Given the description of an element on the screen output the (x, y) to click on. 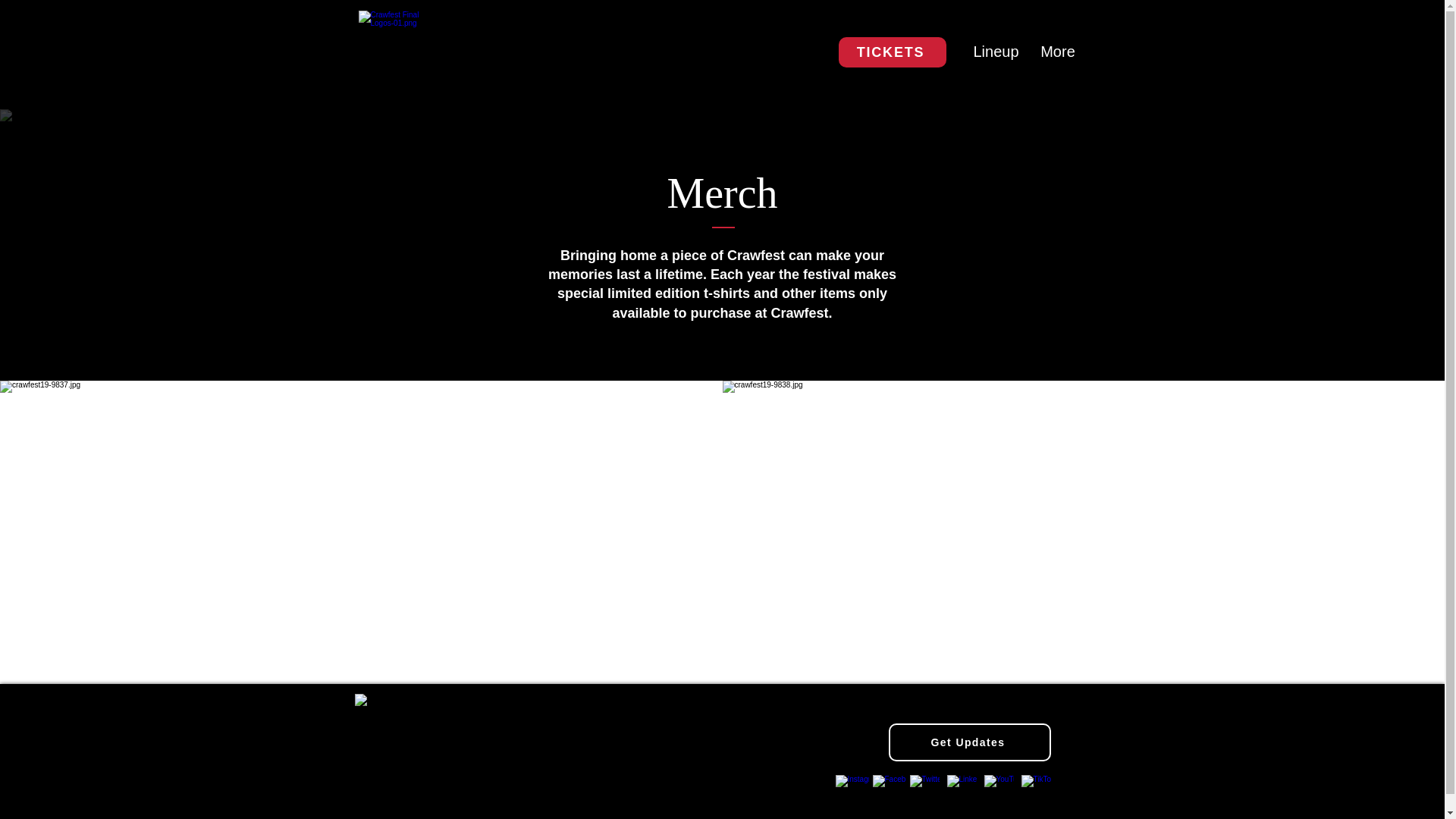
Get Updates (969, 742)
TICKETS (892, 51)
Lineup (993, 51)
